Given the description of an element on the screen output the (x, y) to click on. 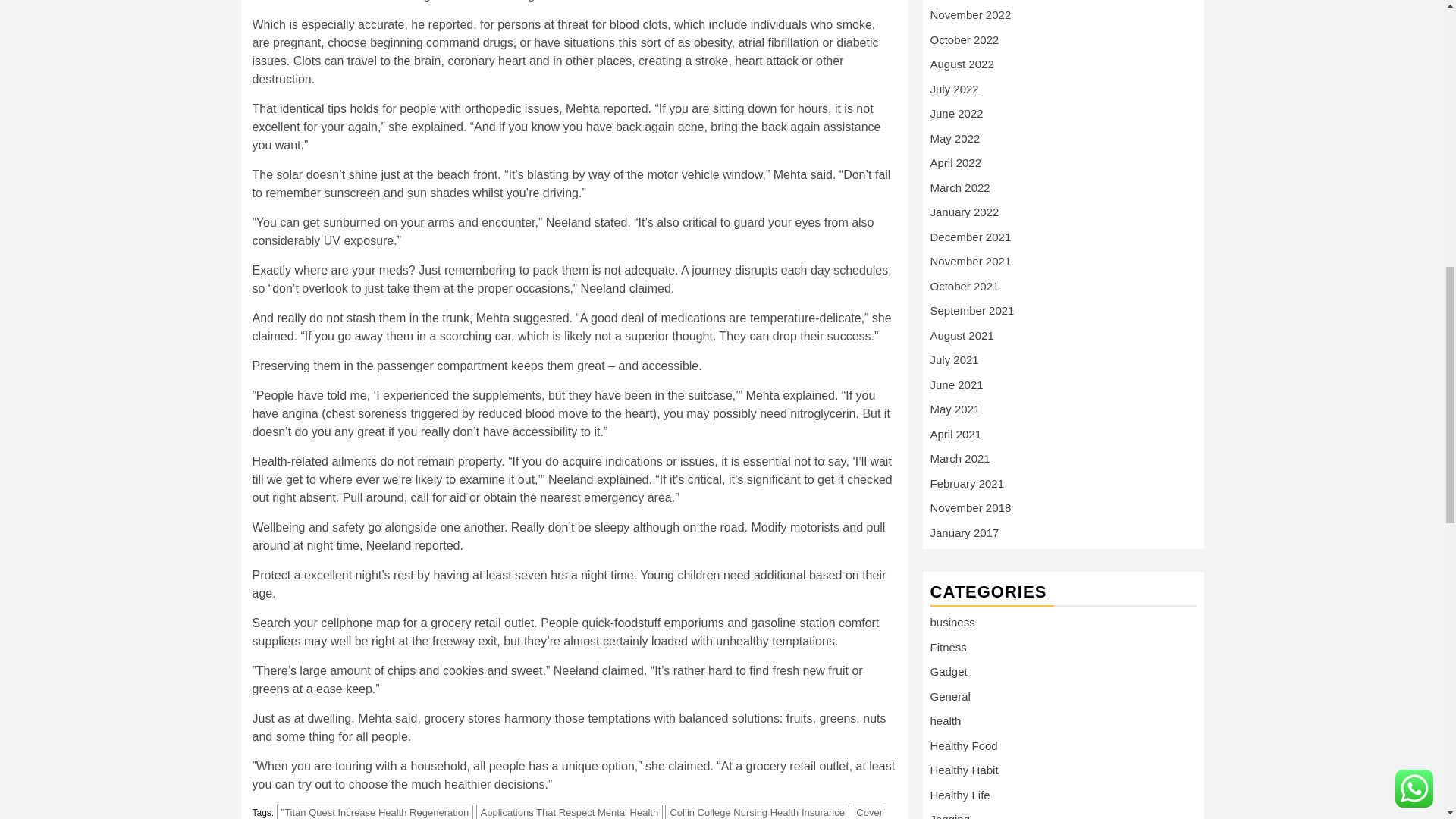
Collin College Nursing Health Insurance (756, 811)
Applications That Respect Mental Health (569, 811)
Cover Nevada Health Insurance (566, 811)
"Titan Quest Increase Health Regeneration (375, 811)
